Given the description of an element on the screen output the (x, y) to click on. 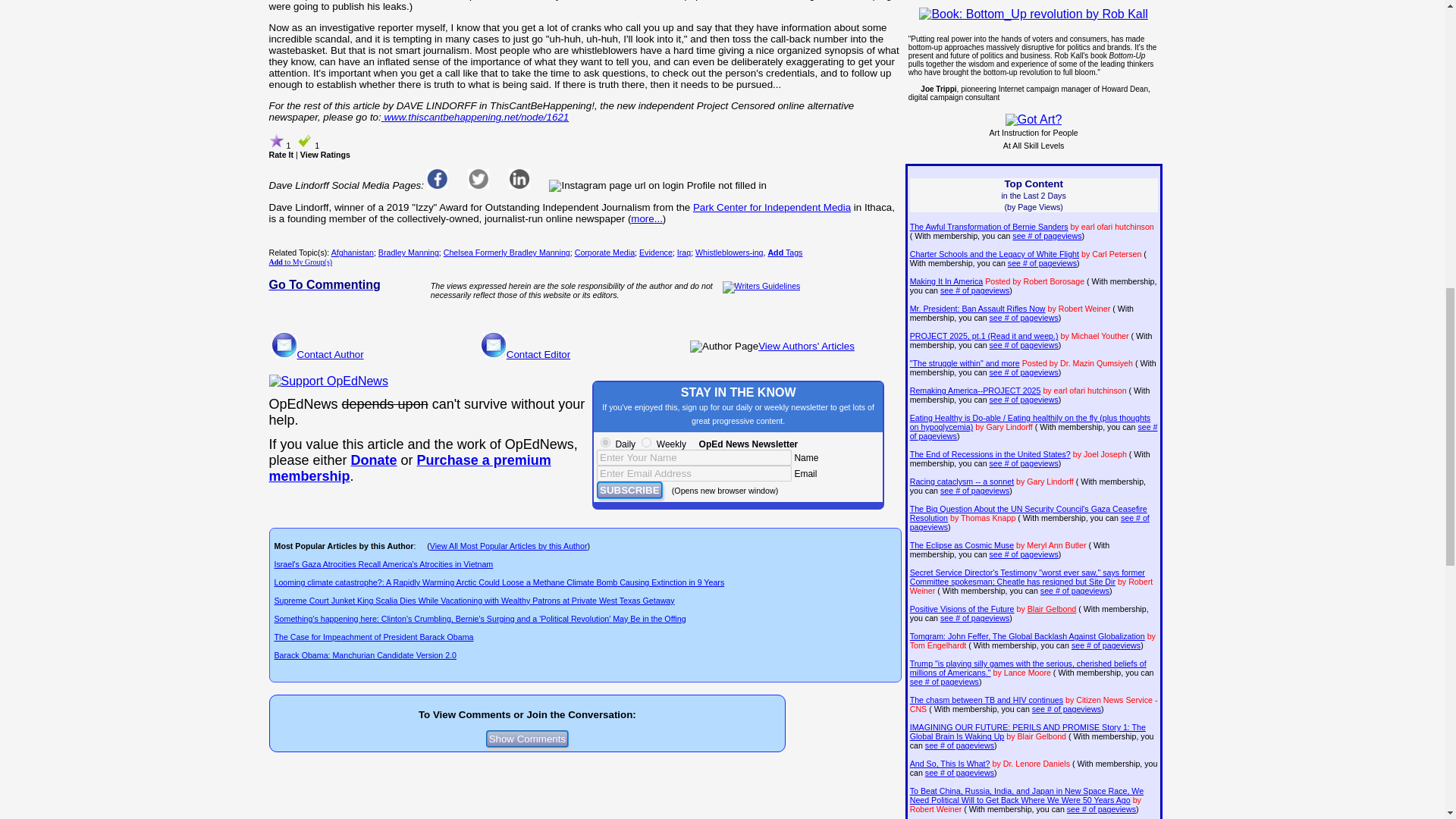
SUBSCRIBE (629, 489)
more... (646, 218)
Enter Your Name (694, 457)
Corporate Media (604, 252)
Interesting (275, 140)
Valuable (305, 140)
-- (408, 468)
Instagram page url on login Profile not filled in (656, 185)
View Ratings (324, 153)
Rate It (280, 153)
Daily (604, 442)
Writers Guidelines (761, 287)
Iraq (683, 252)
-- (373, 459)
Enter Email Address (694, 473)
